Given the description of an element on the screen output the (x, y) to click on. 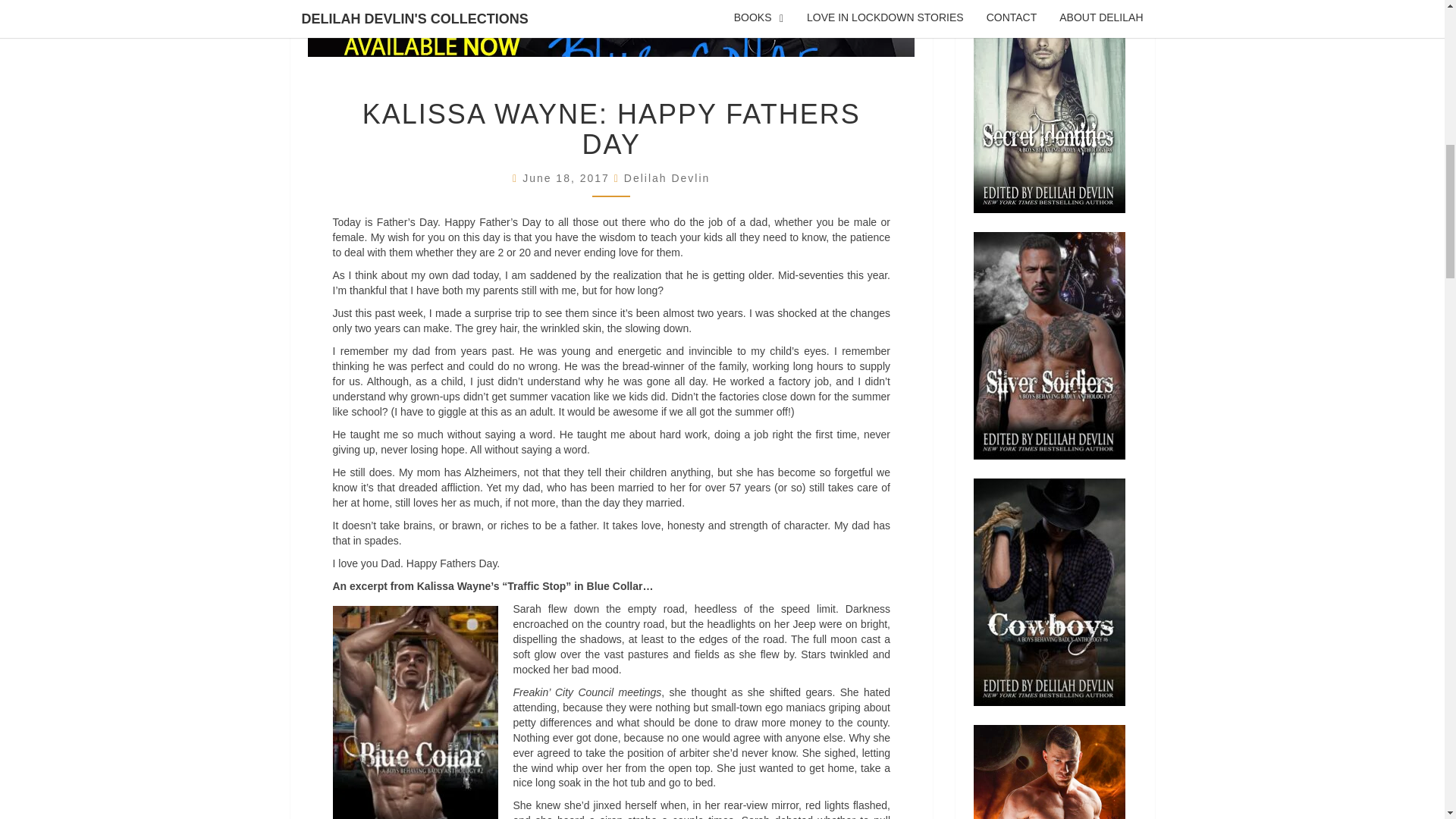
View all posts by Delilah Devlin (667, 177)
June 18, 2017 (568, 177)
11:38 am (568, 177)
Delilah Devlin (667, 177)
